Given the description of an element on the screen output the (x, y) to click on. 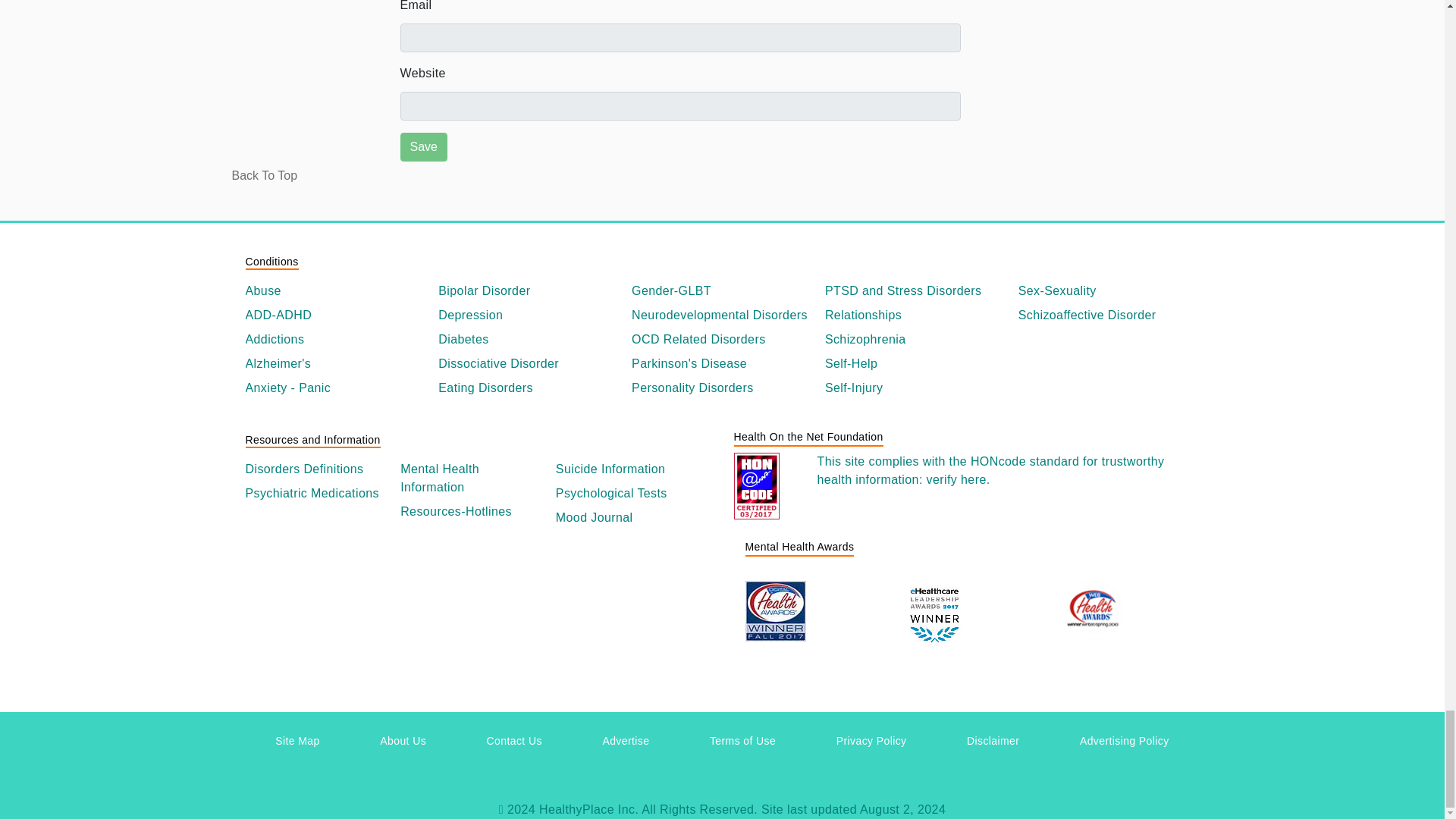
Parkinson's Disease Information Articles (721, 363)
